Given the description of an element on the screen output the (x, y) to click on. 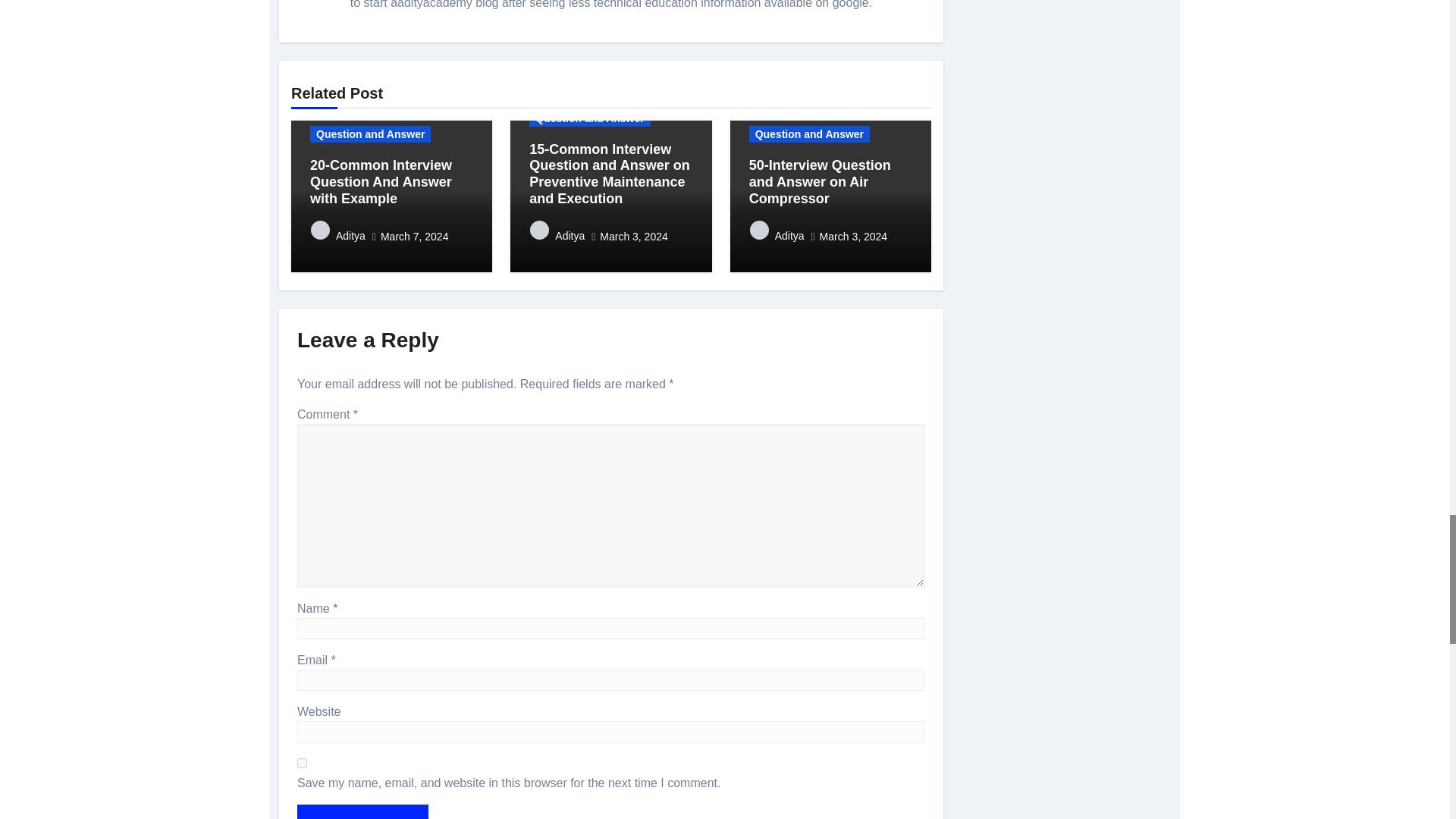
yes (302, 763)
Post Comment (362, 811)
